Given the description of an element on the screen output the (x, y) to click on. 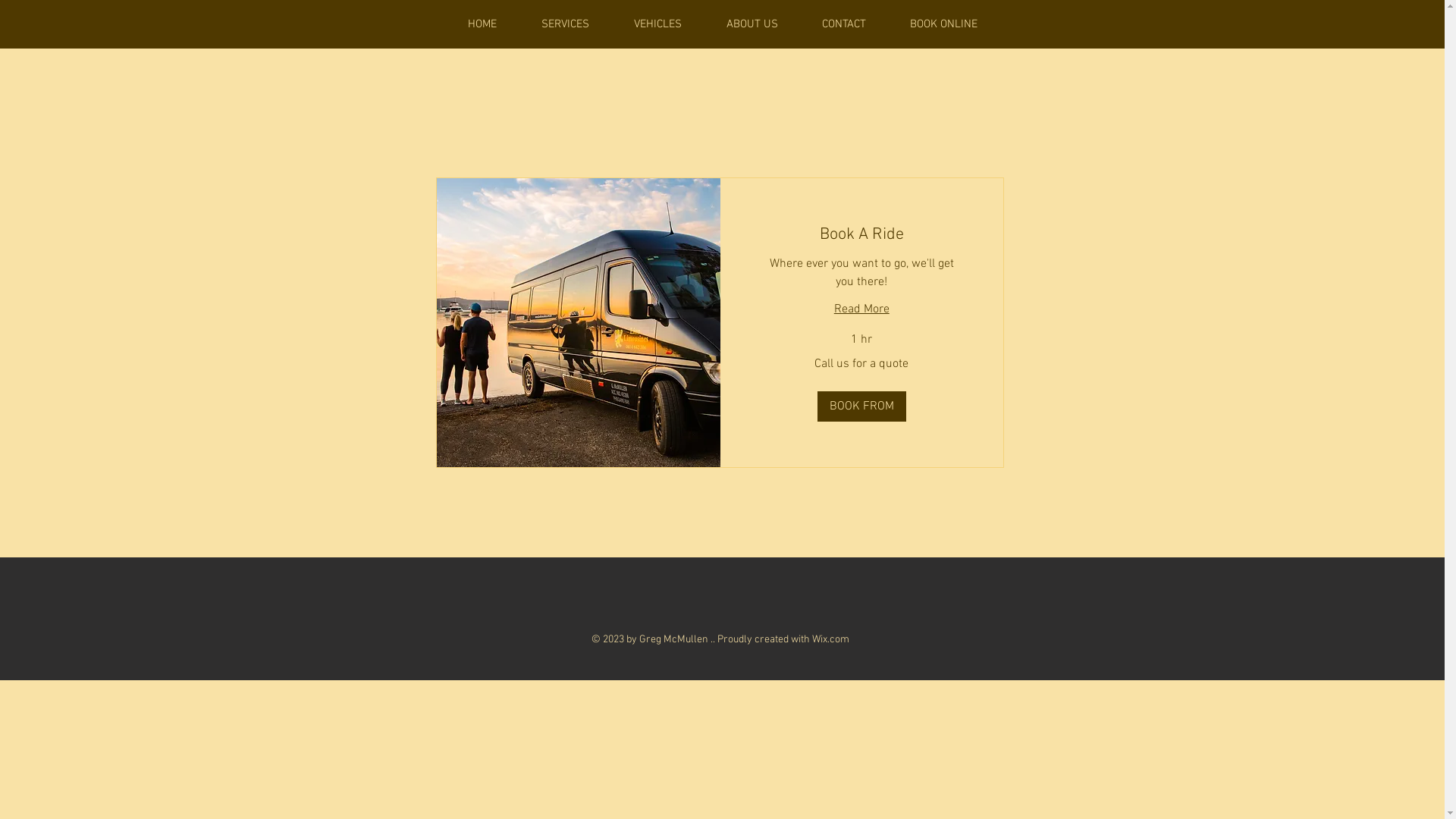
ABOUT US Element type: text (751, 24)
Wix.com Element type: text (829, 639)
HOME Element type: text (482, 24)
Book A Ride Element type: text (861, 234)
VEHICLES Element type: text (657, 24)
Read More Element type: text (860, 309)
BOOK ONLINE Element type: text (942, 24)
CONTACT Element type: text (843, 24)
BOOK FROM Element type: text (860, 406)
SERVICES Element type: text (564, 24)
